Given the description of an element on the screen output the (x, y) to click on. 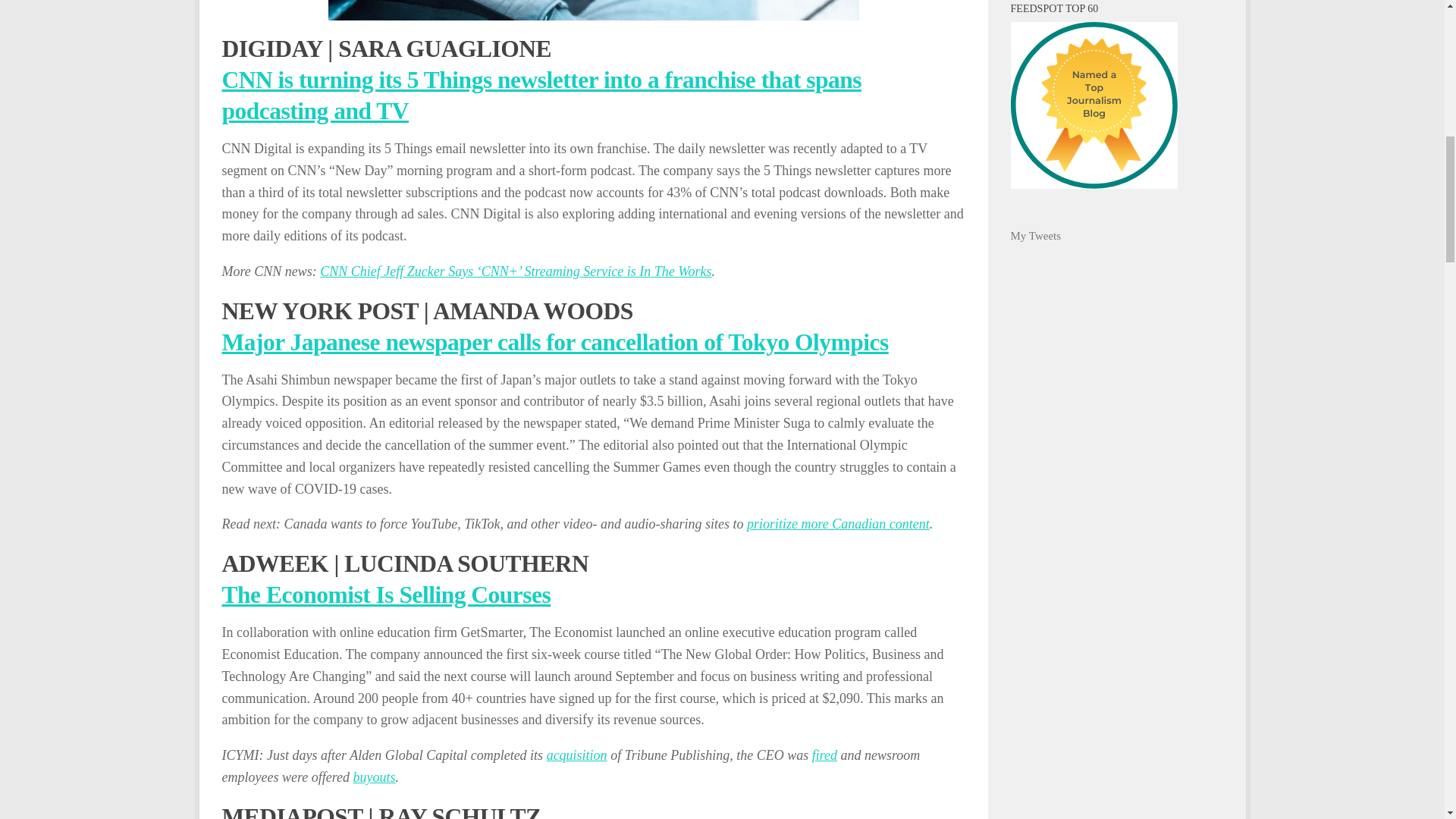
prioritize more Canadian content (838, 523)
